Given the description of an element on the screen output the (x, y) to click on. 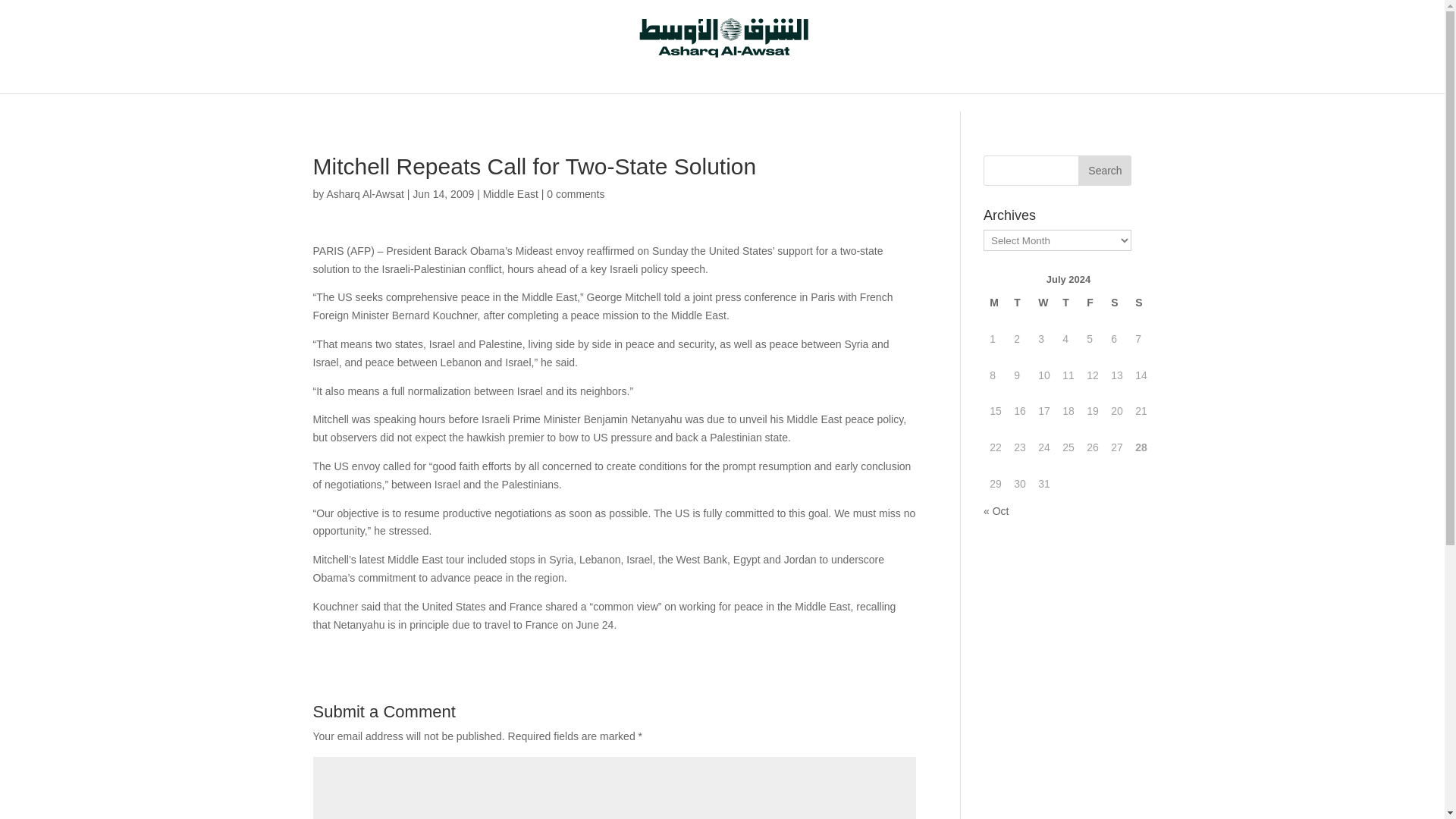
Wednesday (1044, 303)
Middle East (510, 193)
Search (1104, 170)
Posts by Asharq Al-Awsat (364, 193)
Search (1104, 170)
0 comments (575, 193)
Thursday (1068, 303)
Saturday (1117, 303)
Friday (1092, 303)
Asharq Al-Awsat (364, 193)
Tuesday (1019, 303)
Monday (995, 303)
Sunday (1141, 303)
